Given the description of an element on the screen output the (x, y) to click on. 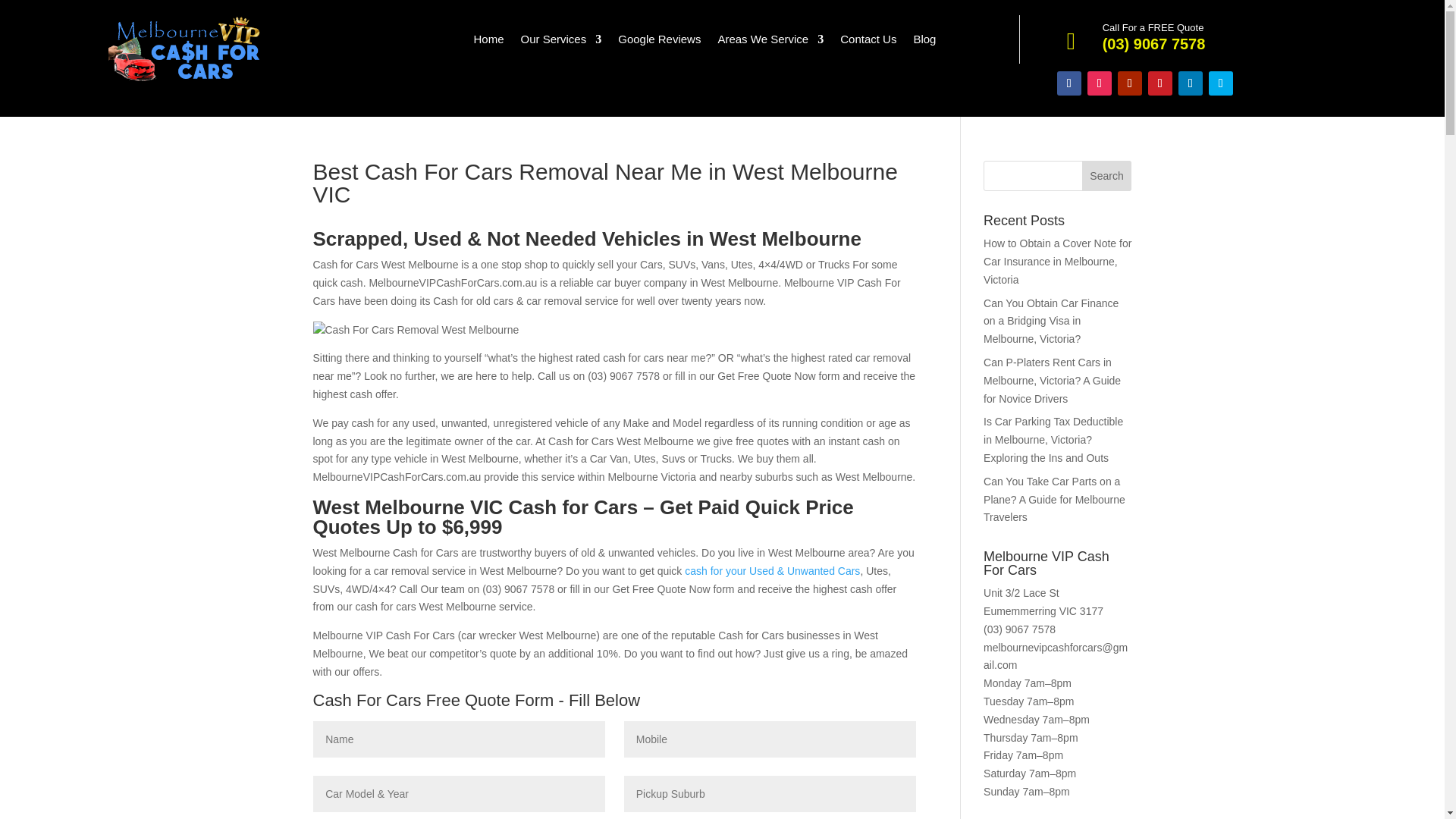
Blog (924, 42)
Follow on Pinterest (1160, 83)
Contact Us (868, 42)
Follow on Instagram (1099, 83)
Follow on X (1220, 83)
Search (1106, 175)
Follow on Youtube (1129, 83)
Home (488, 42)
Follow on Facebook (1069, 83)
Areas We Service (770, 42)
